Given the description of an element on the screen output the (x, y) to click on. 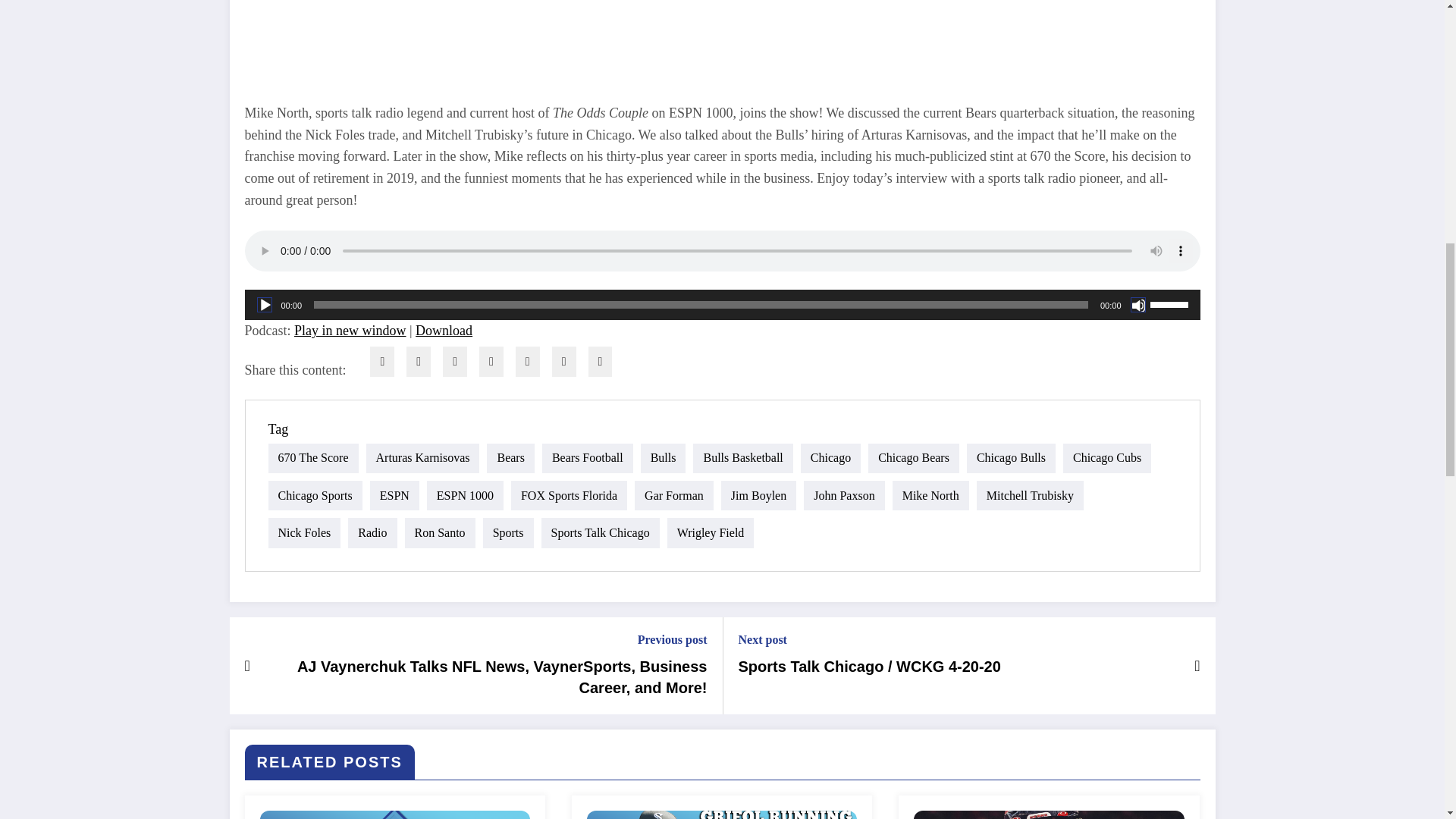
Download (442, 330)
Mute (1136, 304)
Play in new window (350, 330)
Previous post (486, 639)
Play (263, 304)
